Given the description of an element on the screen output the (x, y) to click on. 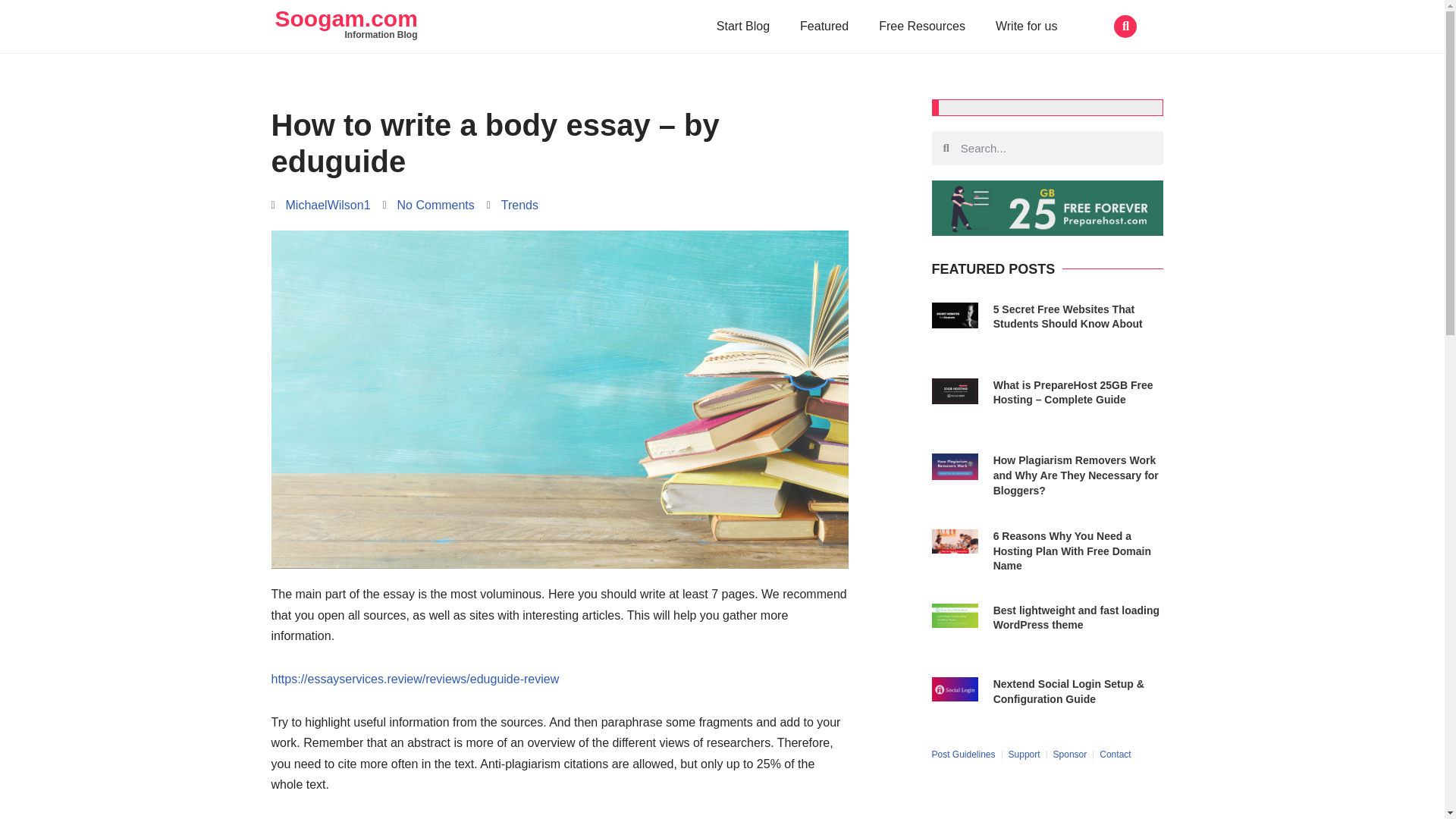
Free Resources (921, 26)
Start Blog (742, 26)
Soogam.com (345, 18)
MichaelWilson1 (320, 204)
Write for us (1026, 26)
Information Blog (379, 34)
Featured (823, 26)
No Comments (428, 204)
Trends (519, 205)
Skip to content (11, 31)
